Given the description of an element on the screen output the (x, y) to click on. 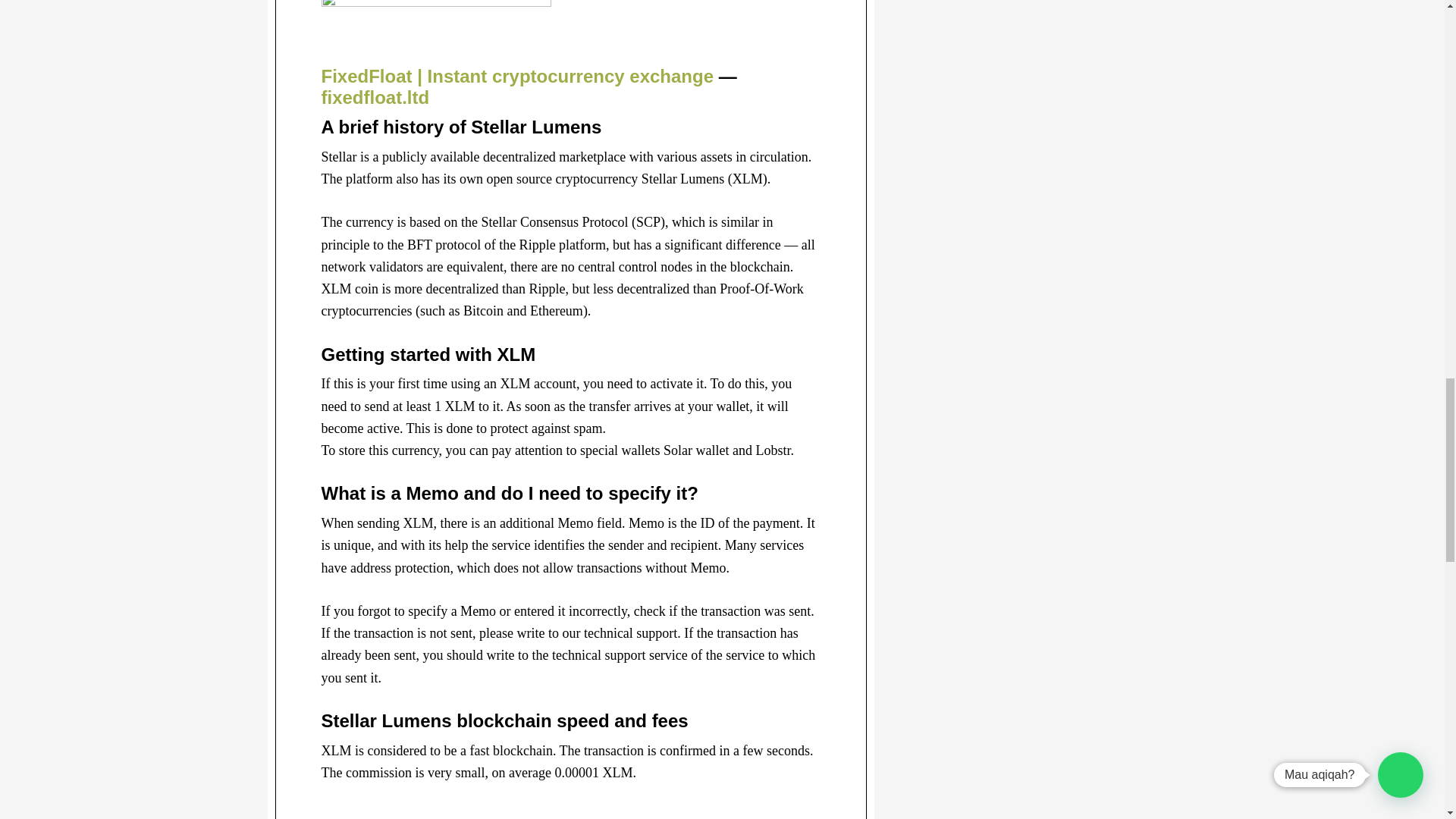
fixedfloat.ltd (375, 96)
